Given the description of an element on the screen output the (x, y) to click on. 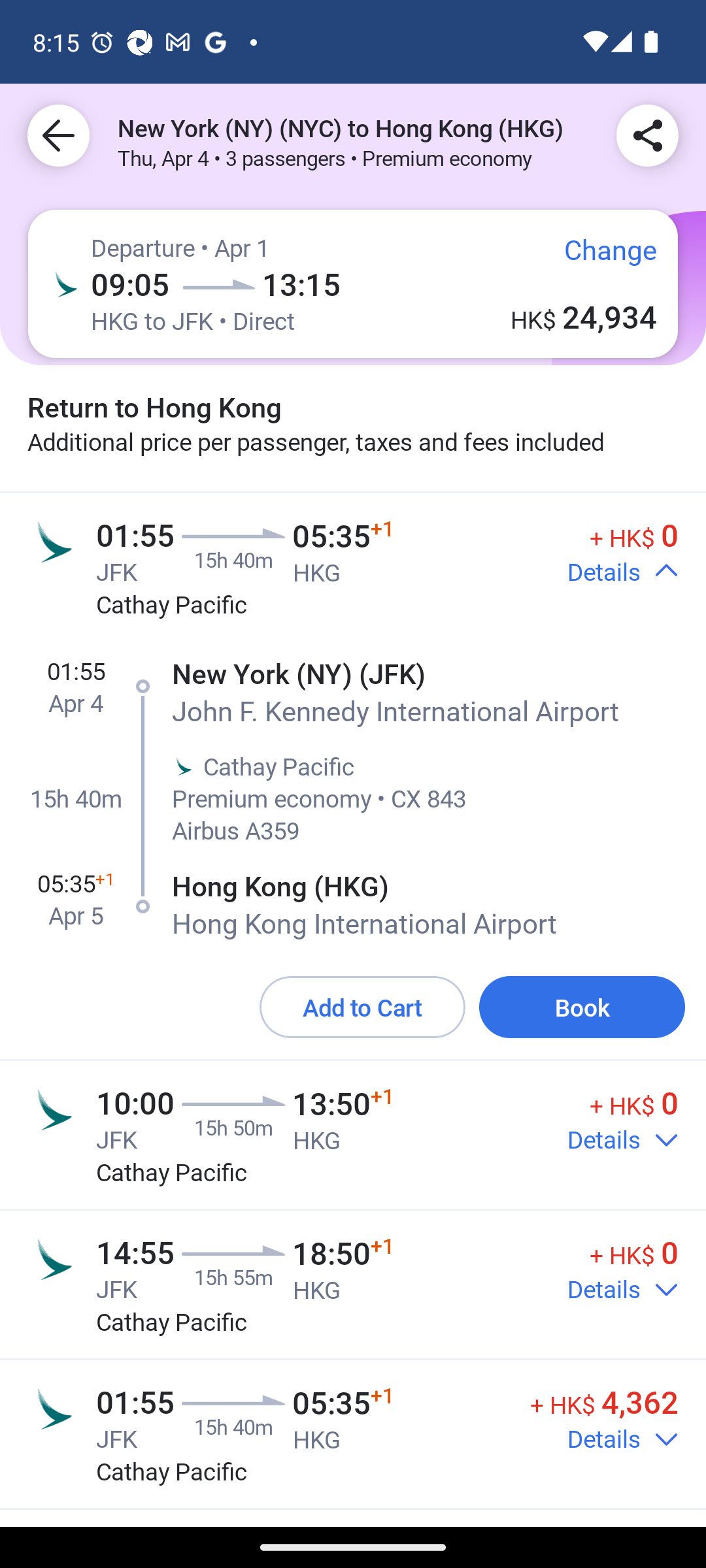
Change (596, 257)
Add to Cart (362, 1006)
Book (581, 1006)
